Given the description of an element on the screen output the (x, y) to click on. 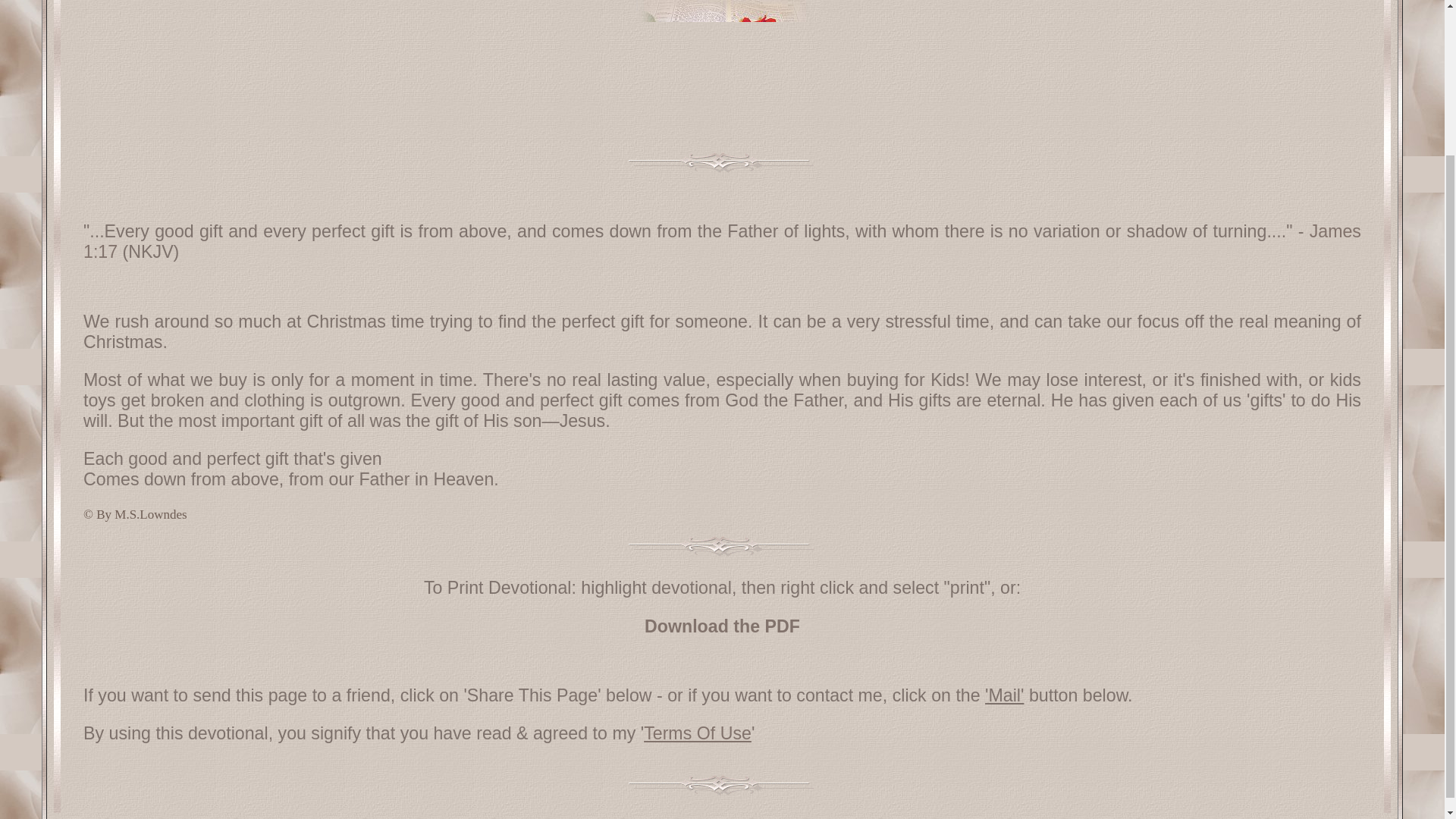
Terms Of Use (697, 732)
James 1:17 (721, 241)
Download the PDF (722, 626)
